Given the description of an element on the screen output the (x, y) to click on. 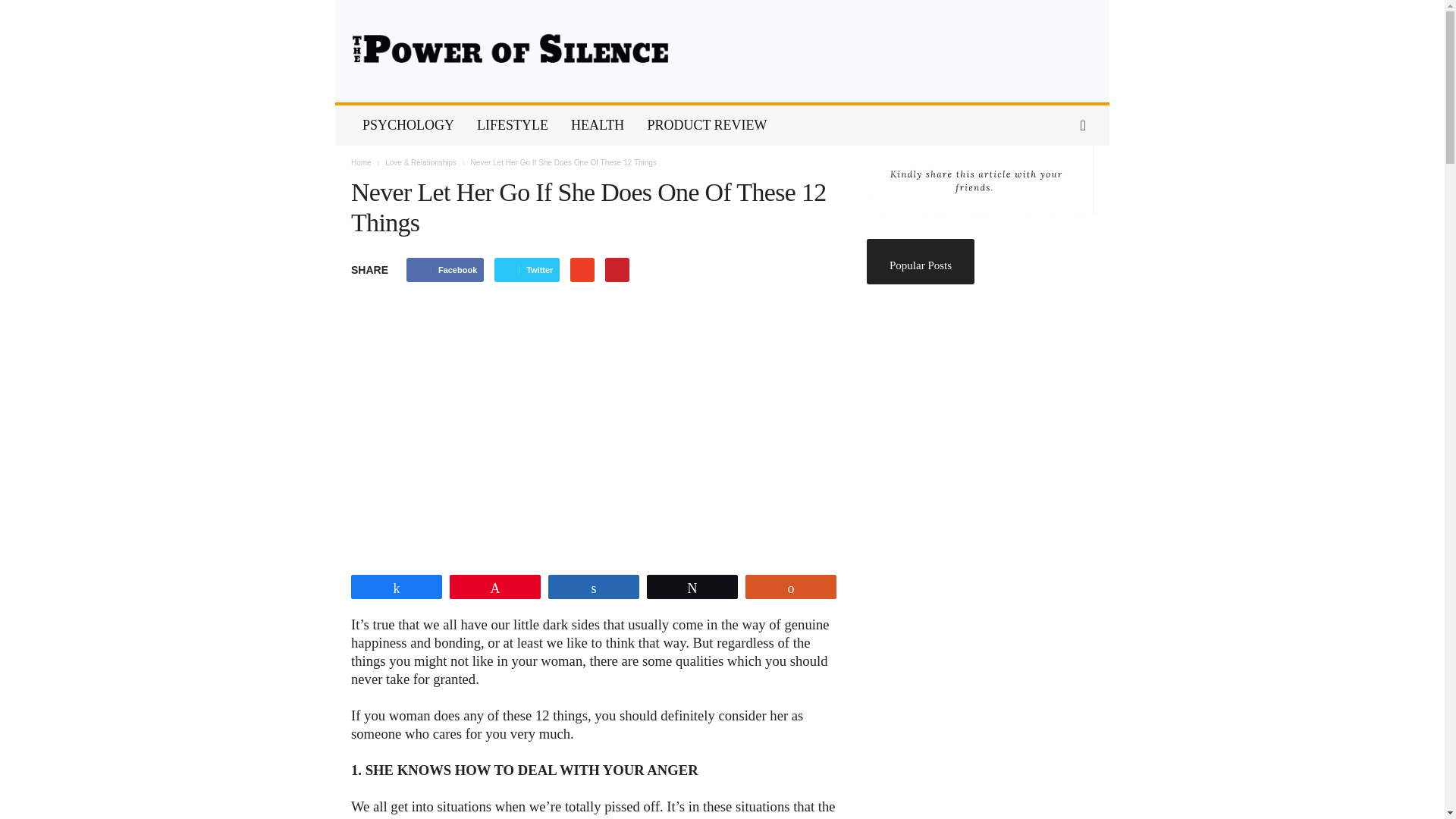
Twitter (527, 269)
PSYCHOLOGY (407, 125)
HEALTH (596, 125)
Home (360, 162)
The Power Of Silence (721, 51)
Facebook (444, 269)
LIFESTYLE (512, 125)
PRODUCT REVIEW (705, 125)
